Given the description of an element on the screen output the (x, y) to click on. 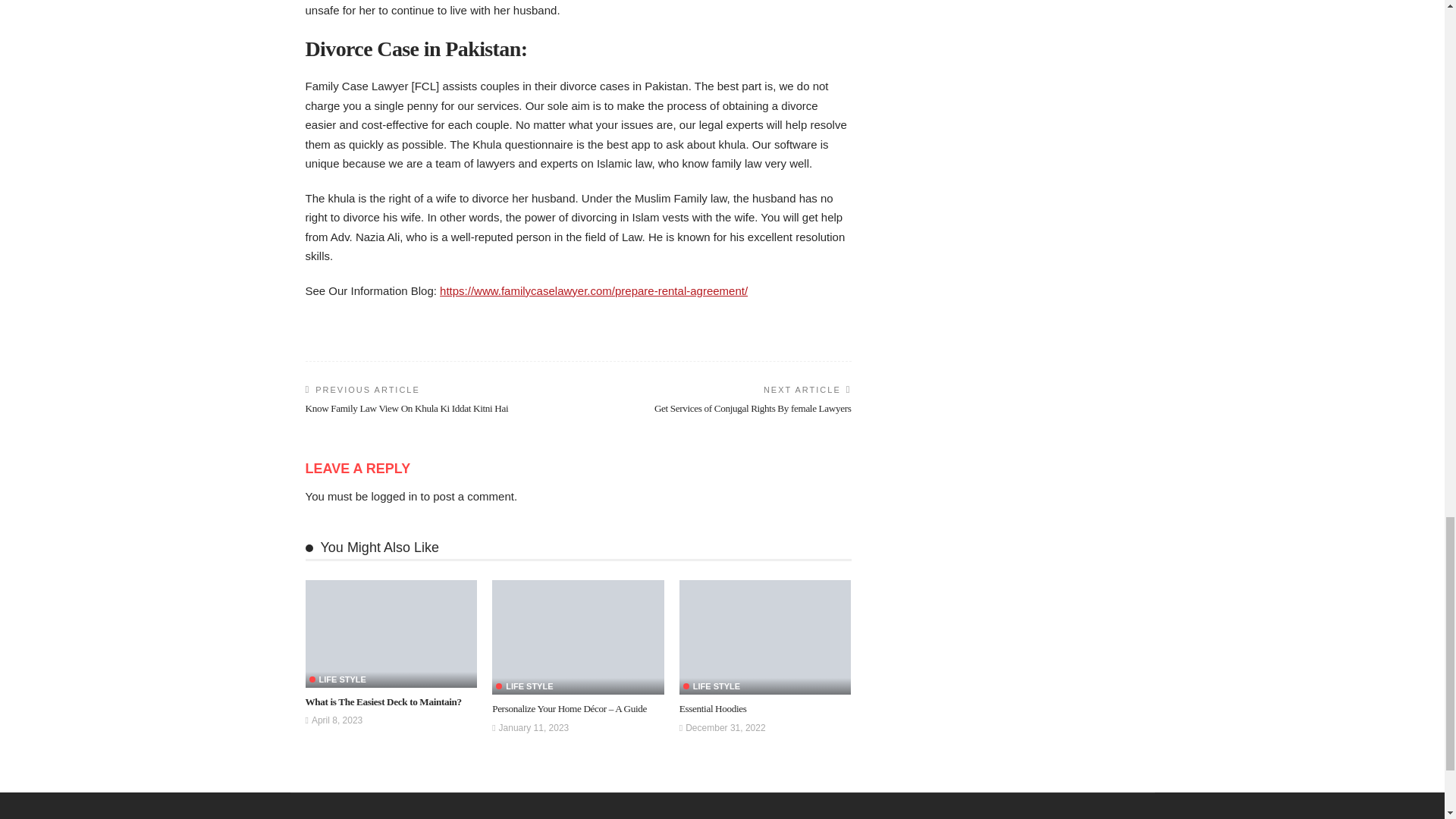
Know Family Law View On Khula Ki Iddat Kitni Hai (406, 408)
Life Style (337, 679)
Get Services of Conjugal Rights By female Lawyers (752, 408)
